Given the description of an element on the screen output the (x, y) to click on. 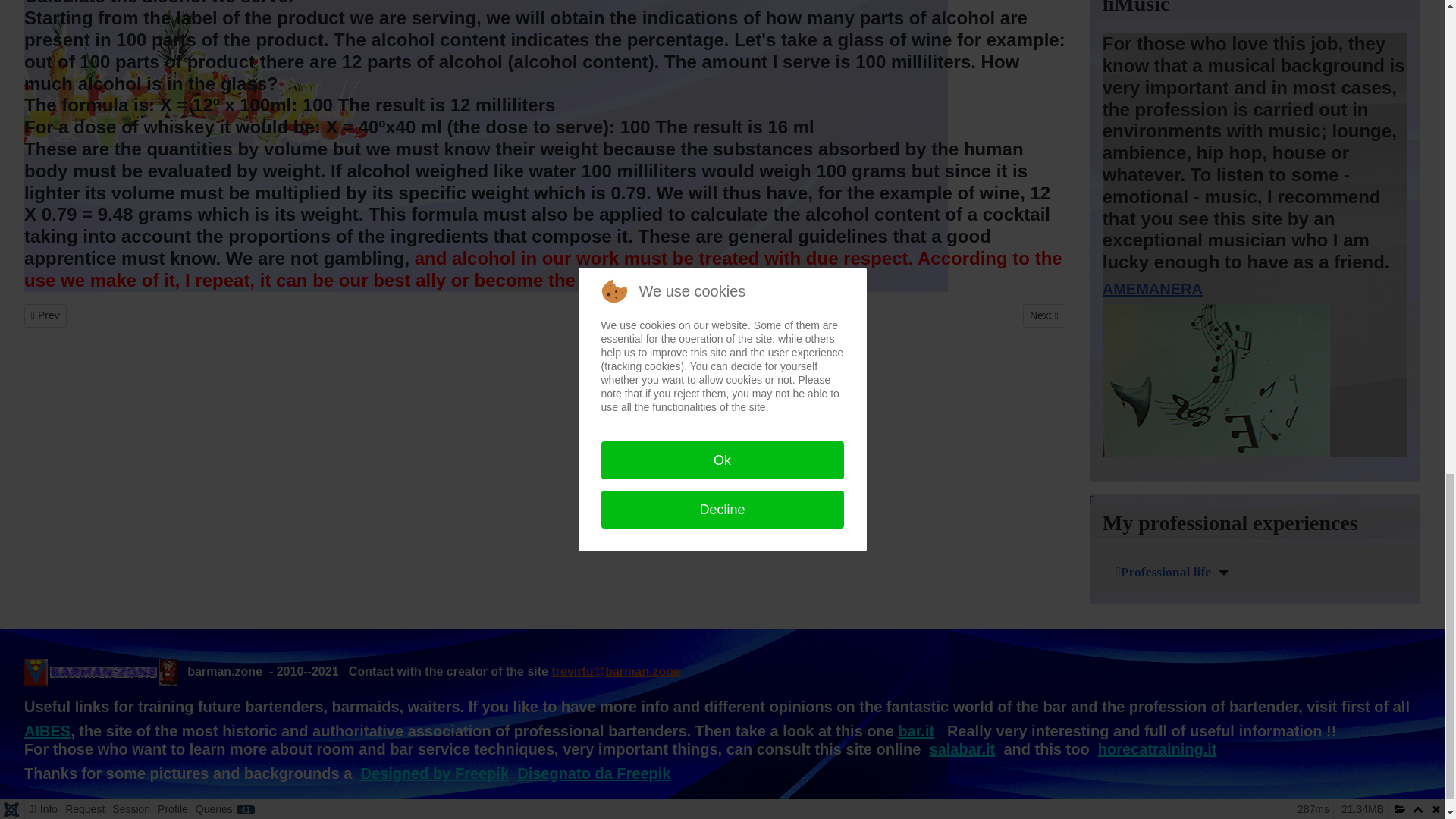
AMEMANERA (1152, 288)
